Given the description of an element on the screen output the (x, y) to click on. 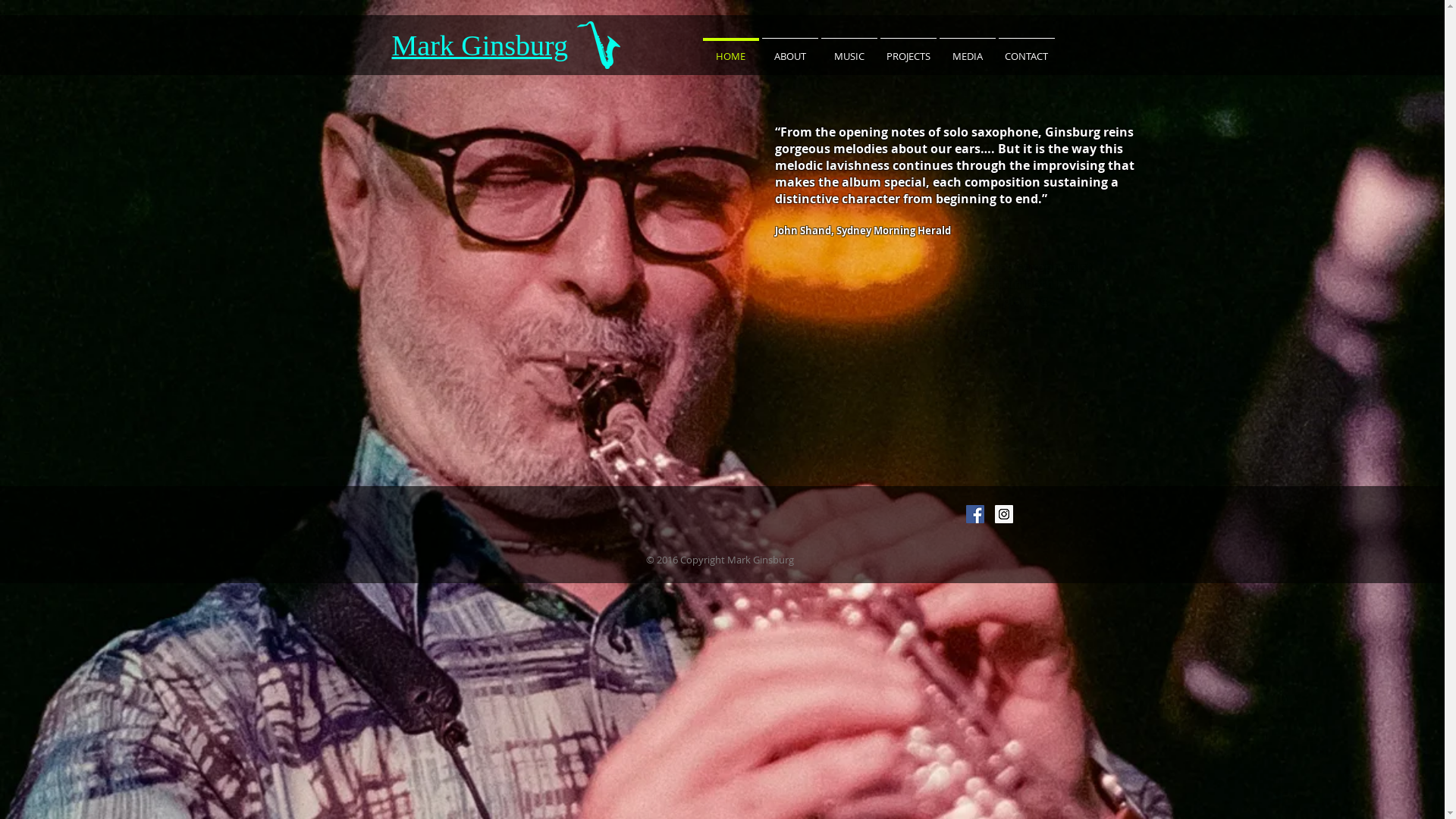
ABOUT Element type: text (789, 48)
Mark Ginsburg Element type: text (479, 45)
CONTACT Element type: text (1025, 48)
MUSIC Element type: text (848, 48)
HOME Element type: text (729, 48)
MEDIA Element type: text (966, 48)
PROJECTS Element type: text (907, 48)
